Given the description of an element on the screen output the (x, y) to click on. 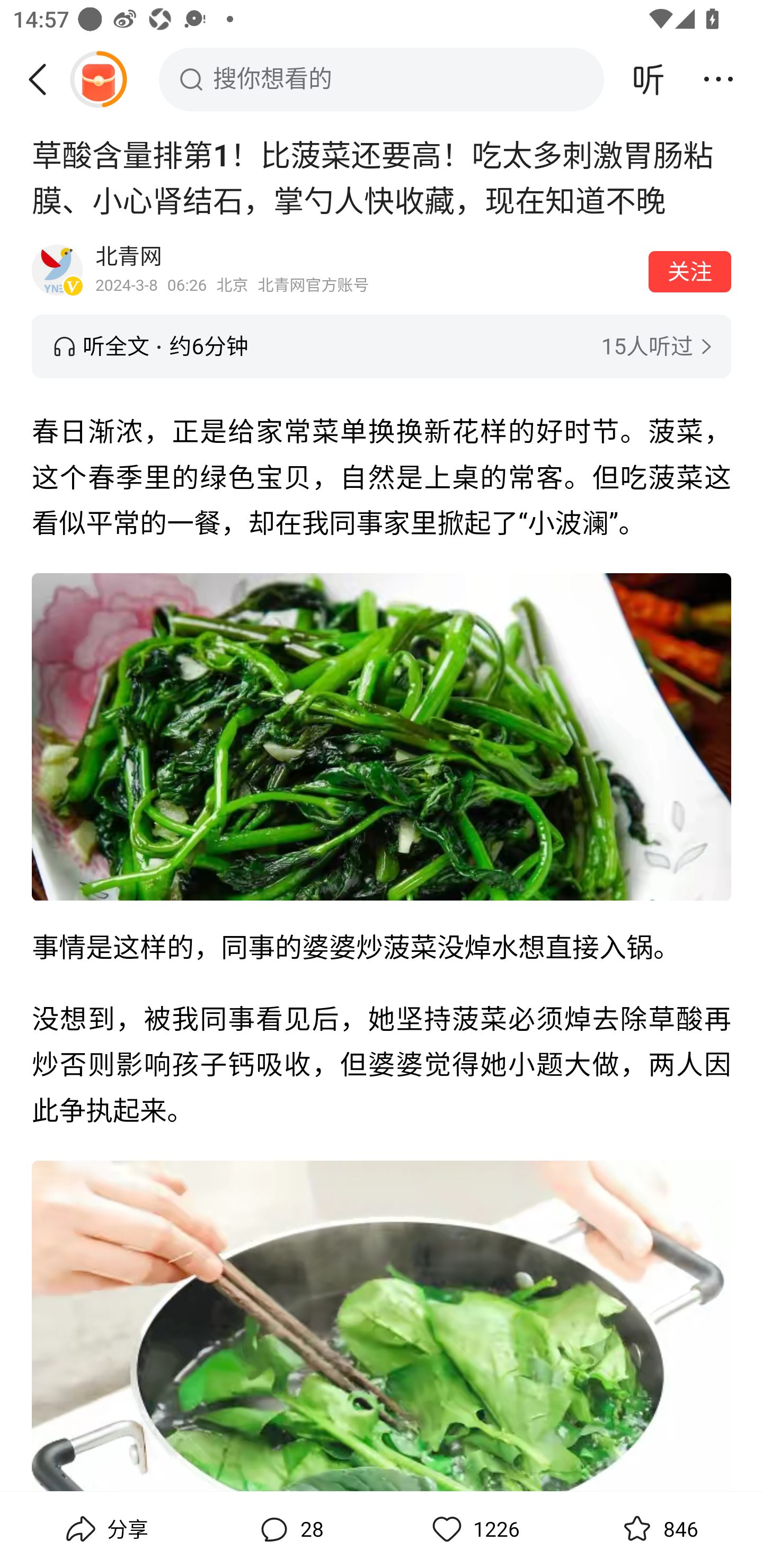
返回 (44, 78)
听头条 (648, 78)
更多操作 (718, 78)
搜你想看的 搜索框，搜你想看的 (381, 79)
阅读赚金币 (98, 79)
作者：北青网，简介：北青网官方账号，2024-3-8 06:26发布，北京 (365, 270)
关注作者 (689, 270)
听全文 约6分钟 15人听过 (381, 346)
图片，点击识别内容 (381, 736)
图片，点击识别内容 (381, 1326)
分享 (104, 1529)
评论,28 28 (288, 1529)
收藏,846 846 (658, 1529)
